Given the description of an element on the screen output the (x, y) to click on. 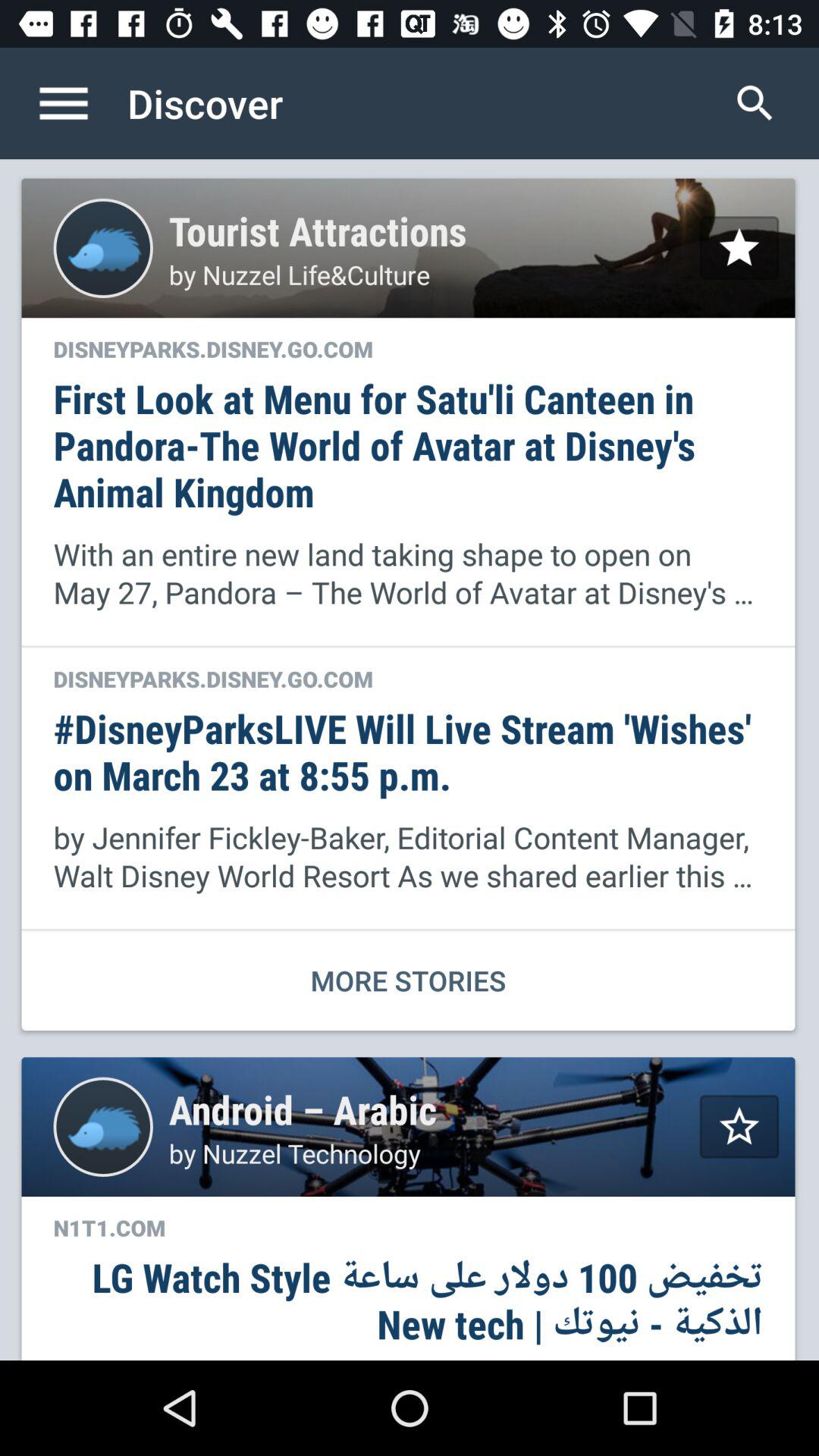
favorite article (739, 1126)
